Given the description of an element on the screen output the (x, y) to click on. 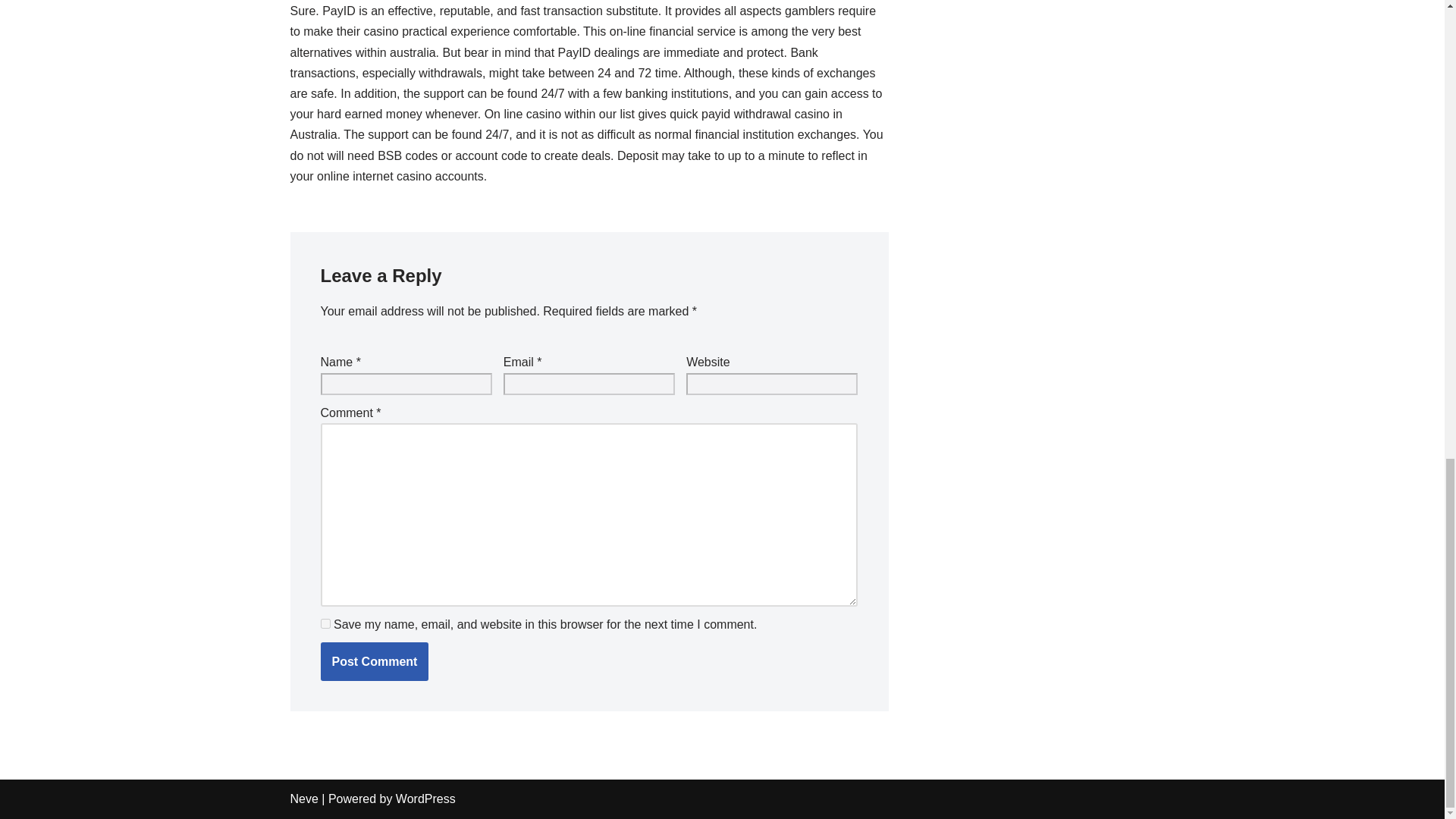
yes (325, 623)
WordPress (425, 798)
Post Comment (374, 661)
Neve (303, 798)
Post Comment (374, 661)
